Given the description of an element on the screen output the (x, y) to click on. 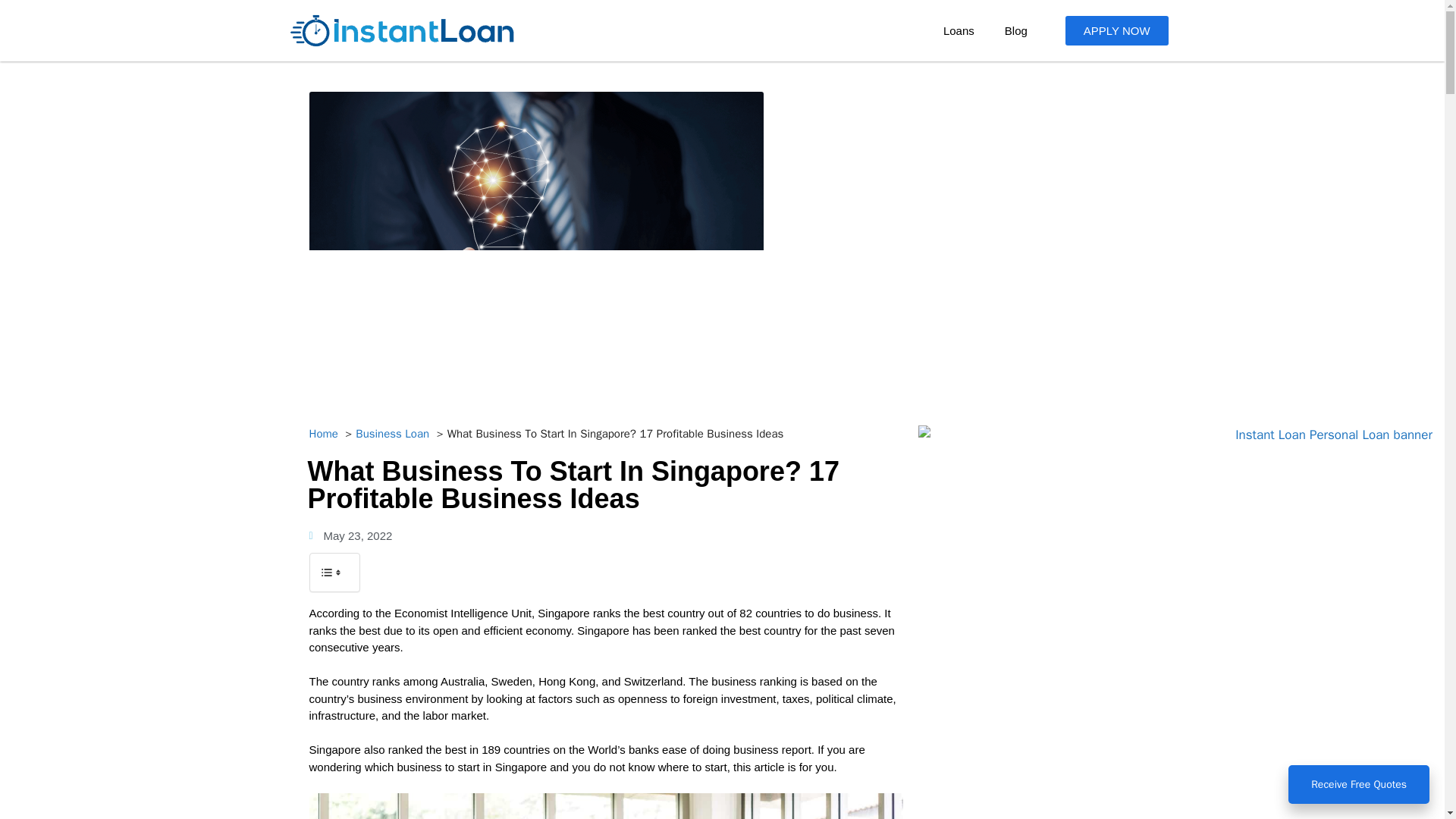
Loans (959, 30)
APPLY NOW (1117, 30)
Blog (1016, 30)
Home (322, 433)
May 23, 2022 (350, 536)
Business Loan (392, 433)
